Given the description of an element on the screen output the (x, y) to click on. 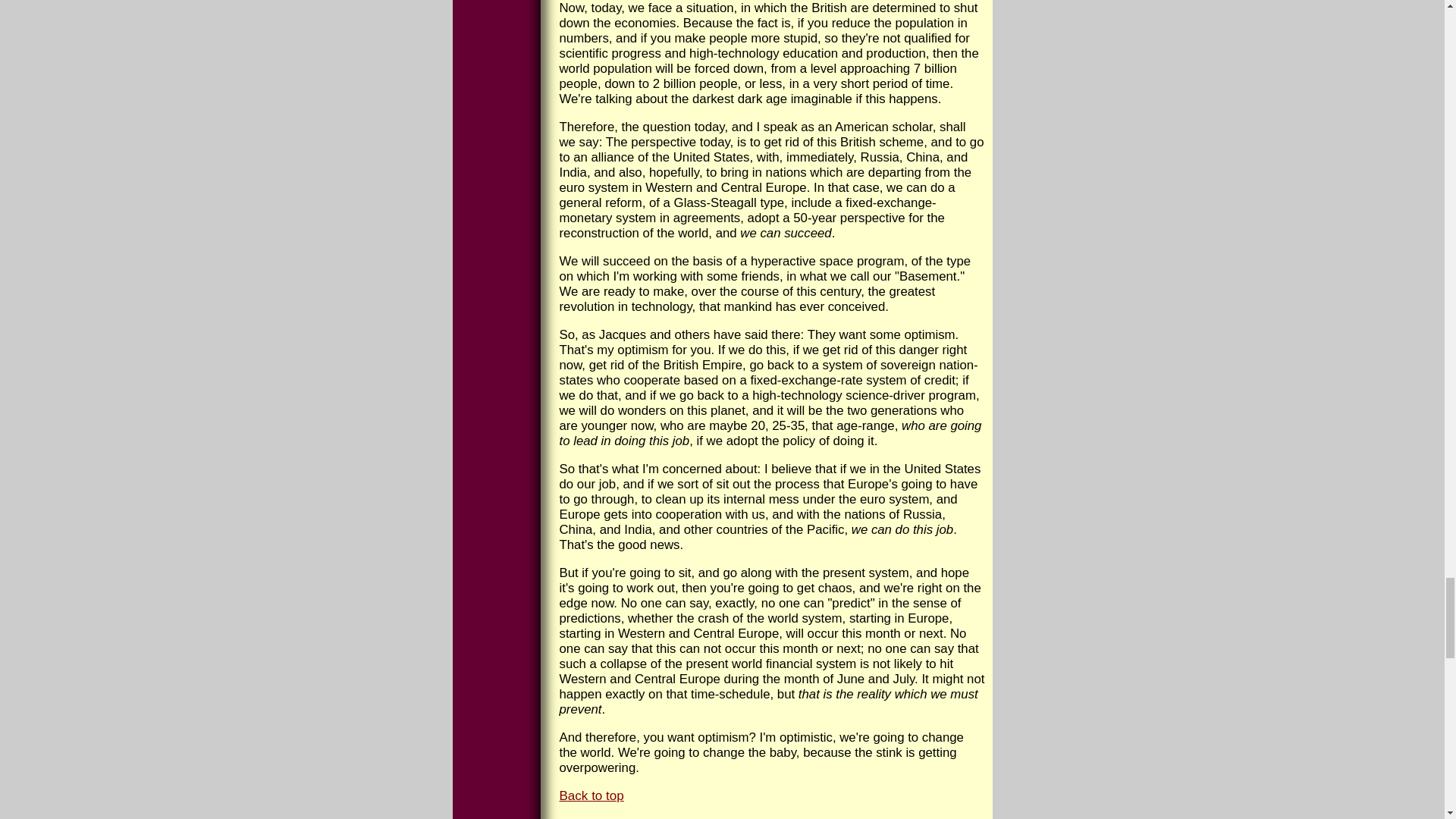
Back to top (591, 795)
